Given the description of an element on the screen output the (x, y) to click on. 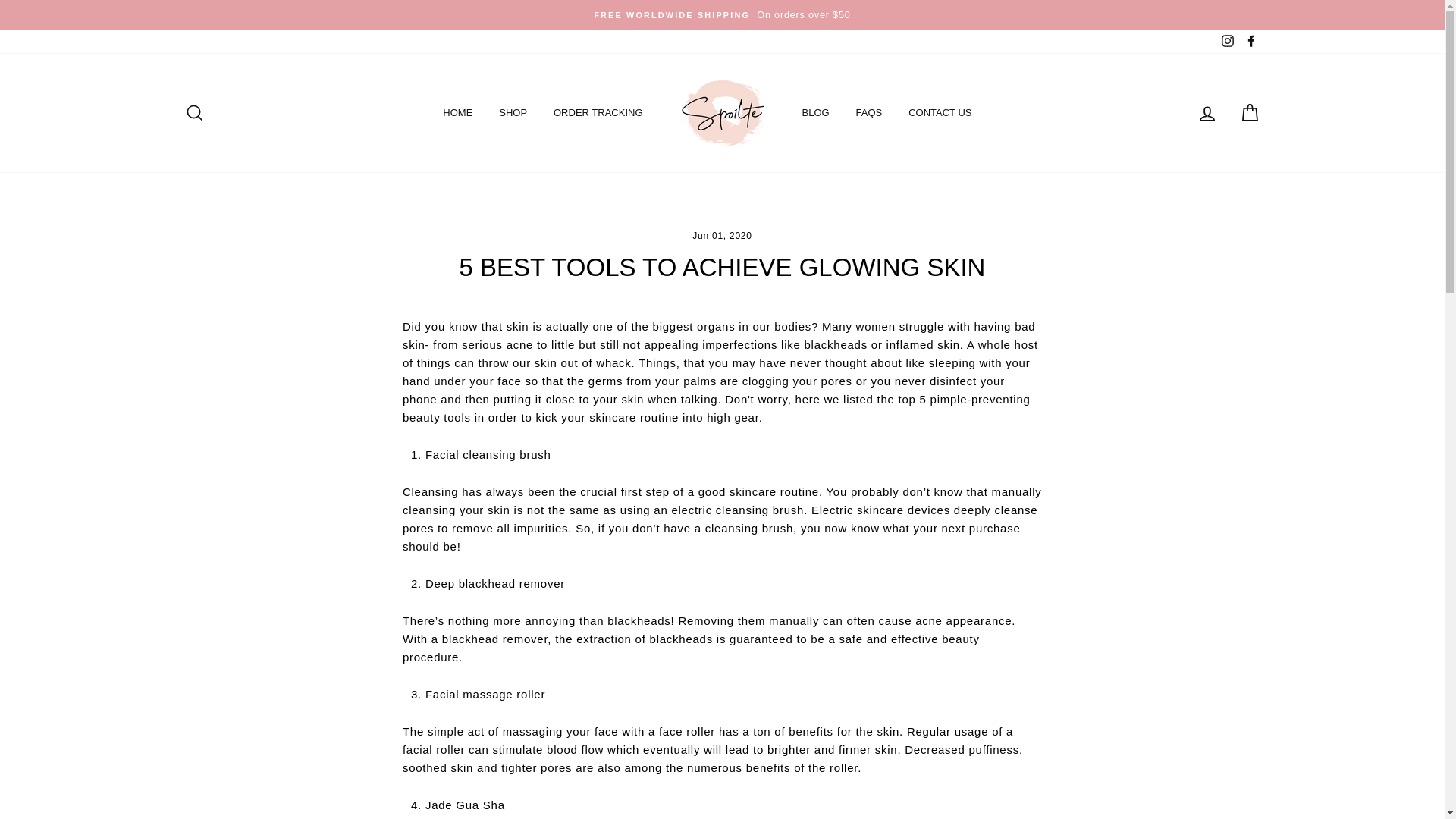
SHOP (512, 112)
SEARCH (194, 112)
HOME (456, 112)
BLOG (815, 112)
LOG IN (1207, 112)
FAQS (868, 112)
CONTACT US (939, 112)
CART (1249, 112)
ORDER TRACKING (597, 112)
